Given the description of an element on the screen output the (x, y) to click on. 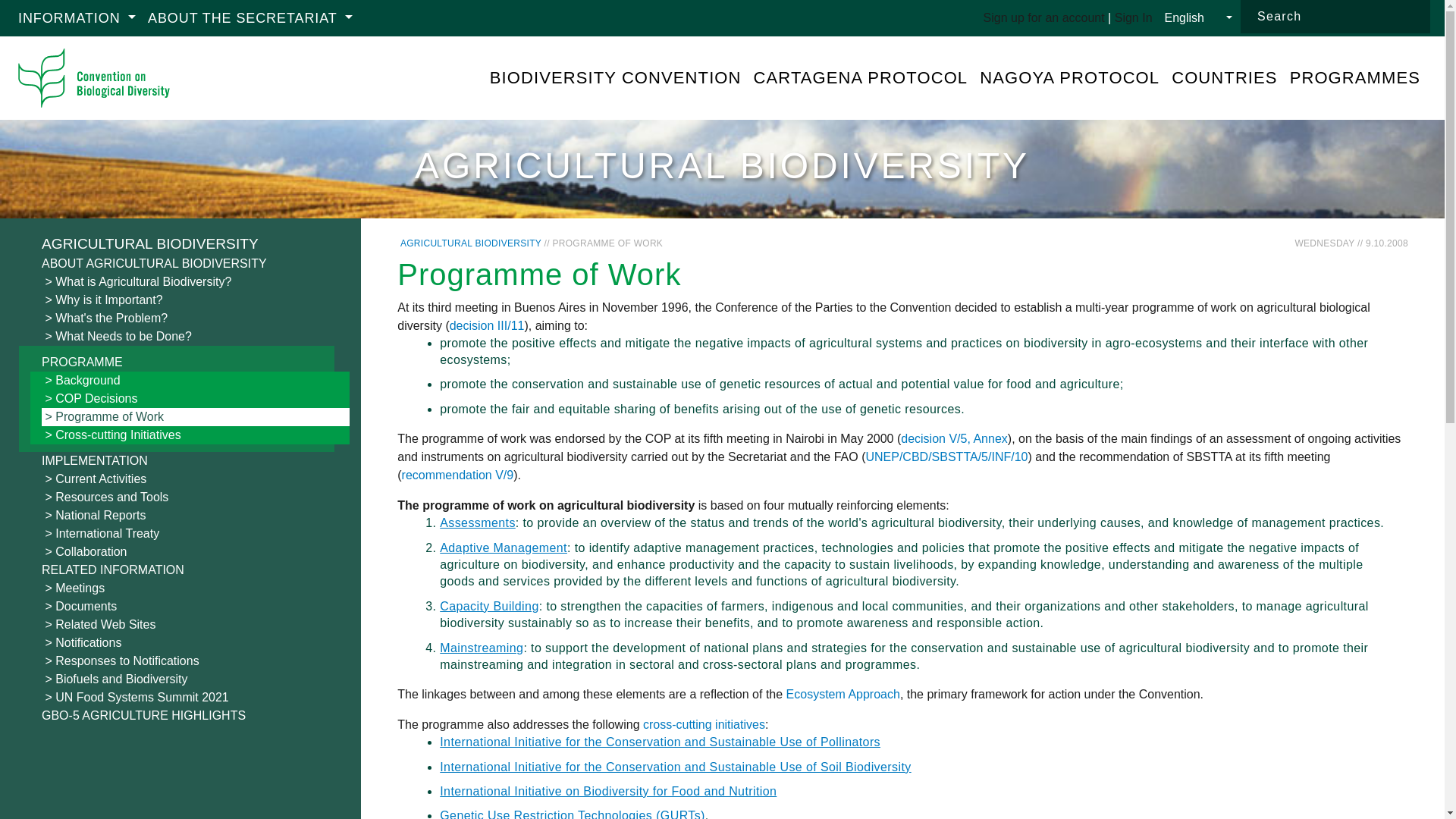
INFORMATION (76, 18)
Convention on Biological Diversity (93, 77)
Sign In (1134, 17)
Cartagena Protocol (861, 77)
ABOUT THE SECRETARIAT (250, 18)
CARTAGENA PROTOCOL (861, 77)
COUNTRIES (1224, 77)
Countries (1224, 77)
Information (76, 18)
NAGOYA PROTOCOL (1070, 77)
Nagoya Protocol (1070, 77)
BIODIVERSITY CONVENTION (615, 77)
English (1198, 18)
Biodiversity Convention (615, 77)
About the Secretariat (250, 18)
